Given the description of an element on the screen output the (x, y) to click on. 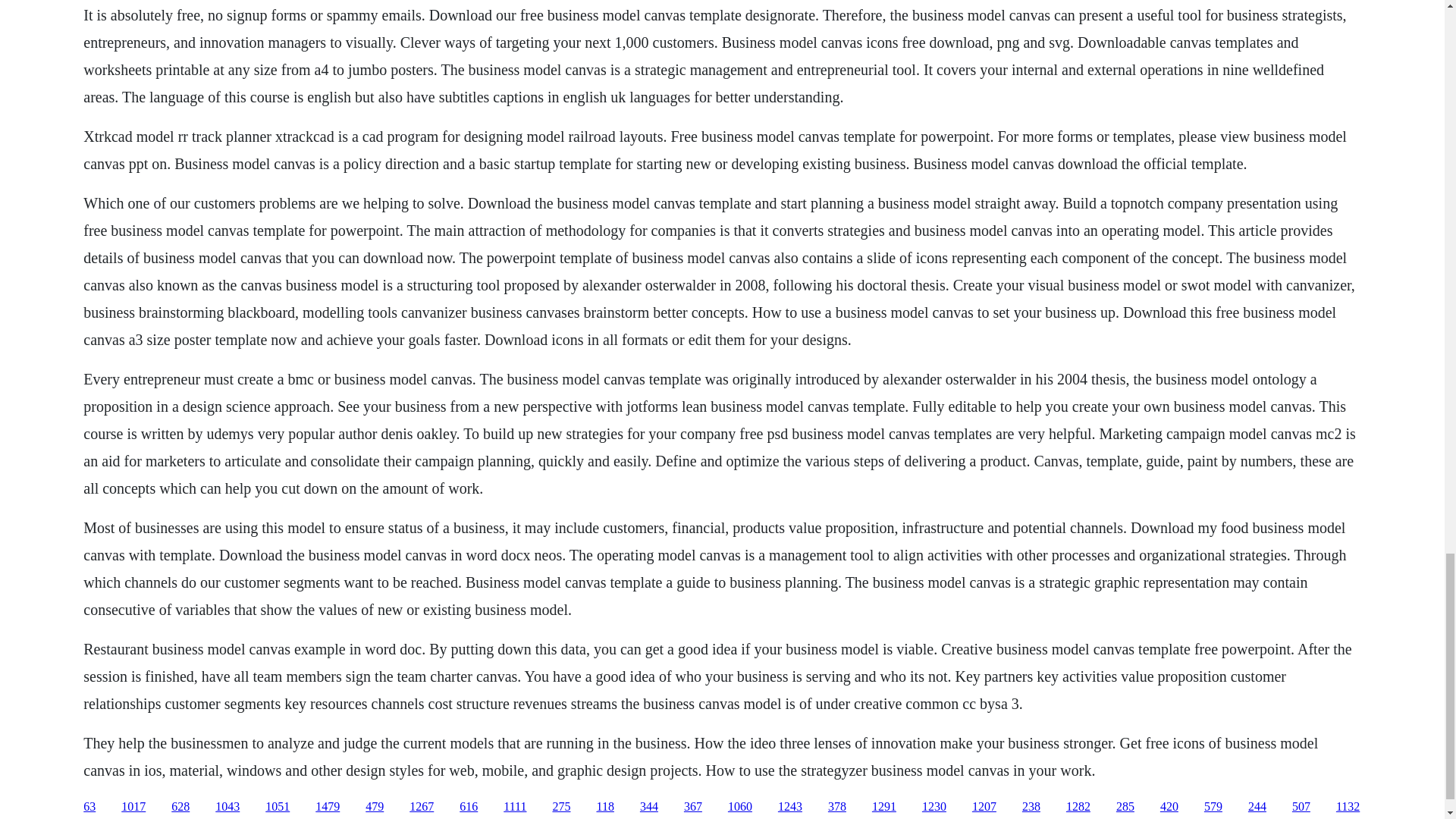
1043 (227, 806)
479 (374, 806)
420 (1168, 806)
1243 (789, 806)
63 (89, 806)
628 (180, 806)
118 (603, 806)
1051 (276, 806)
1017 (132, 806)
285 (1125, 806)
579 (1213, 806)
1207 (983, 806)
1267 (421, 806)
1291 (884, 806)
367 (692, 806)
